Given the description of an element on the screen output the (x, y) to click on. 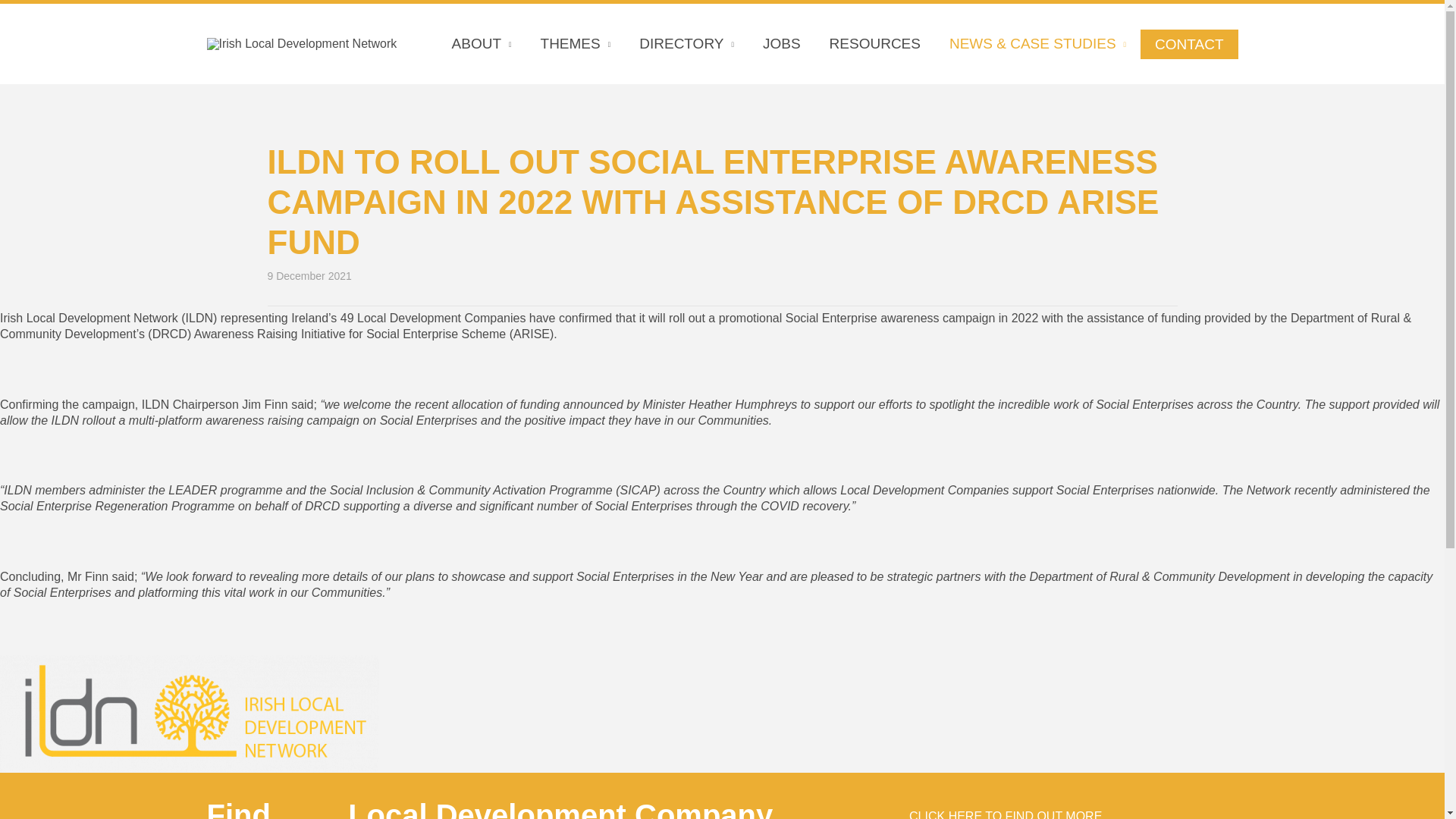
ABOUT (481, 43)
JOBS (781, 43)
RESOURCES (874, 43)
CONTACT (1188, 43)
THEMES (575, 43)
CLICK HERE TO FIND OUT MORE (1017, 813)
DIRECTORY (686, 43)
